Given the description of an element on the screen output the (x, y) to click on. 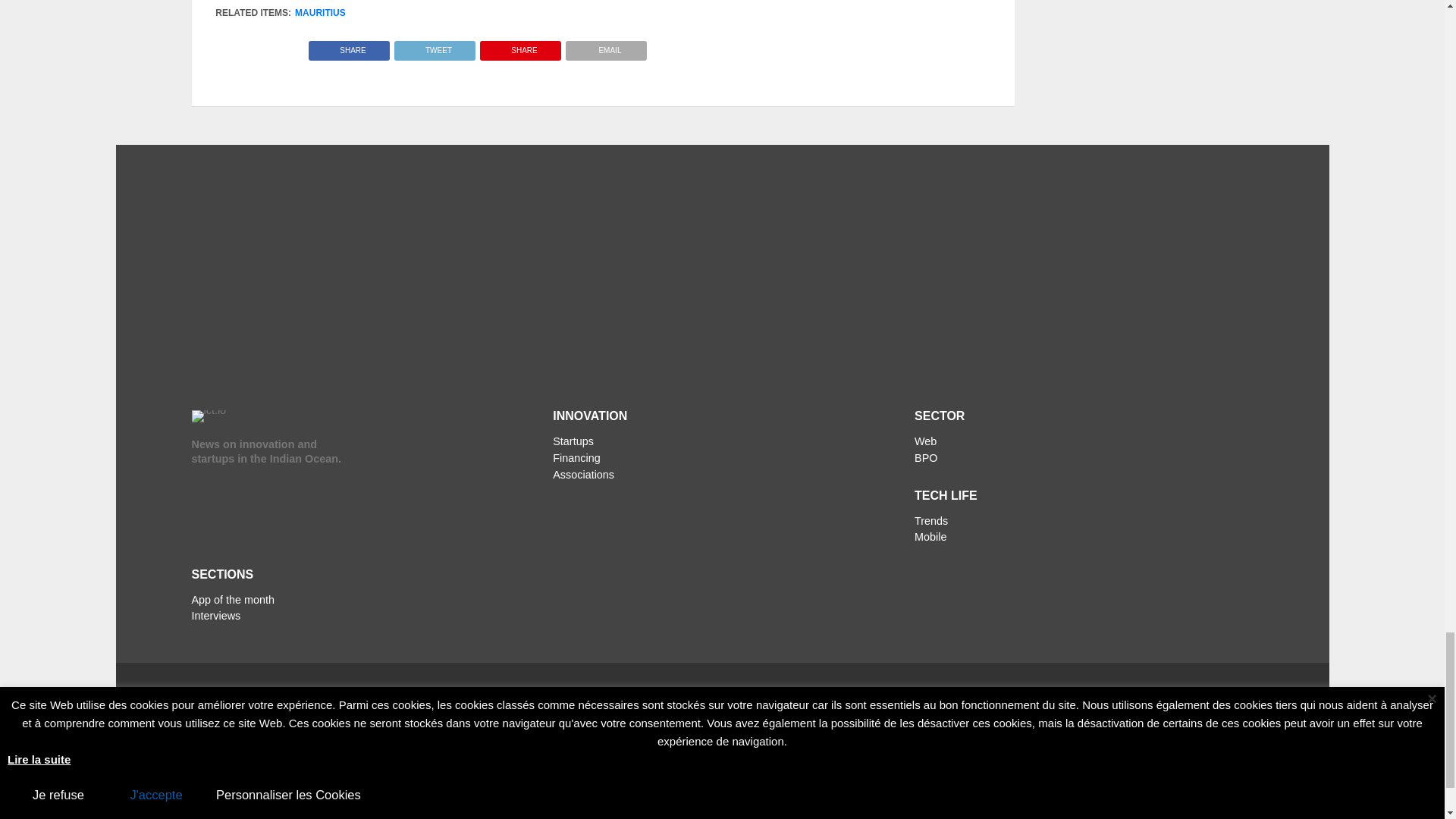
Share on Facebook (349, 46)
Pin This Post (520, 46)
Tweet This Post (434, 46)
